Given the description of an element on the screen output the (x, y) to click on. 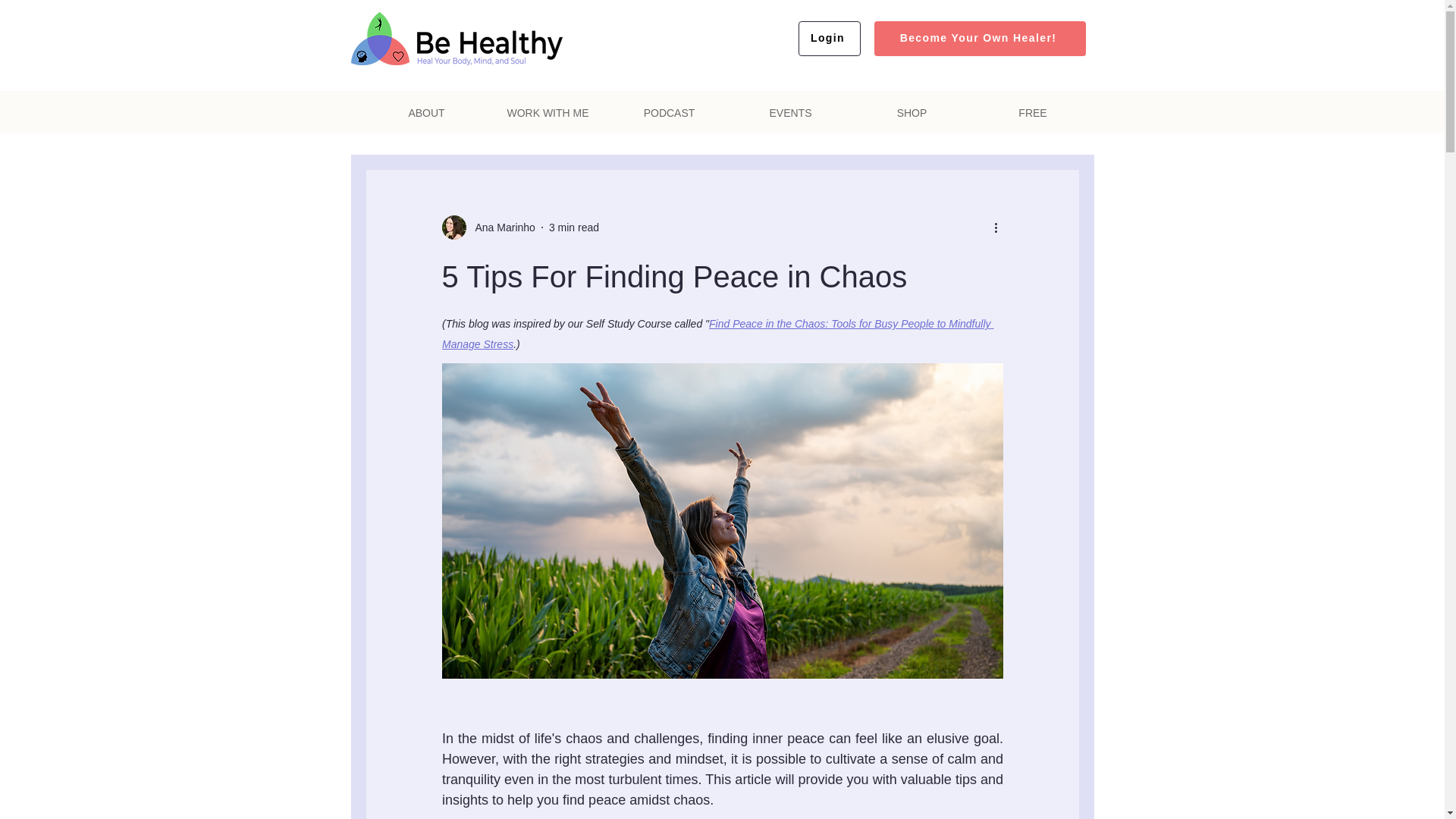
Login (828, 38)
ABOUT (425, 113)
WORK WITH ME (547, 113)
EVENTS (789, 113)
PODCAST (668, 113)
3 min read (573, 227)
Ana Marinho (487, 227)
Become Your Own Healer! (978, 38)
Ana Marinho (499, 227)
